Given the description of an element on the screen output the (x, y) to click on. 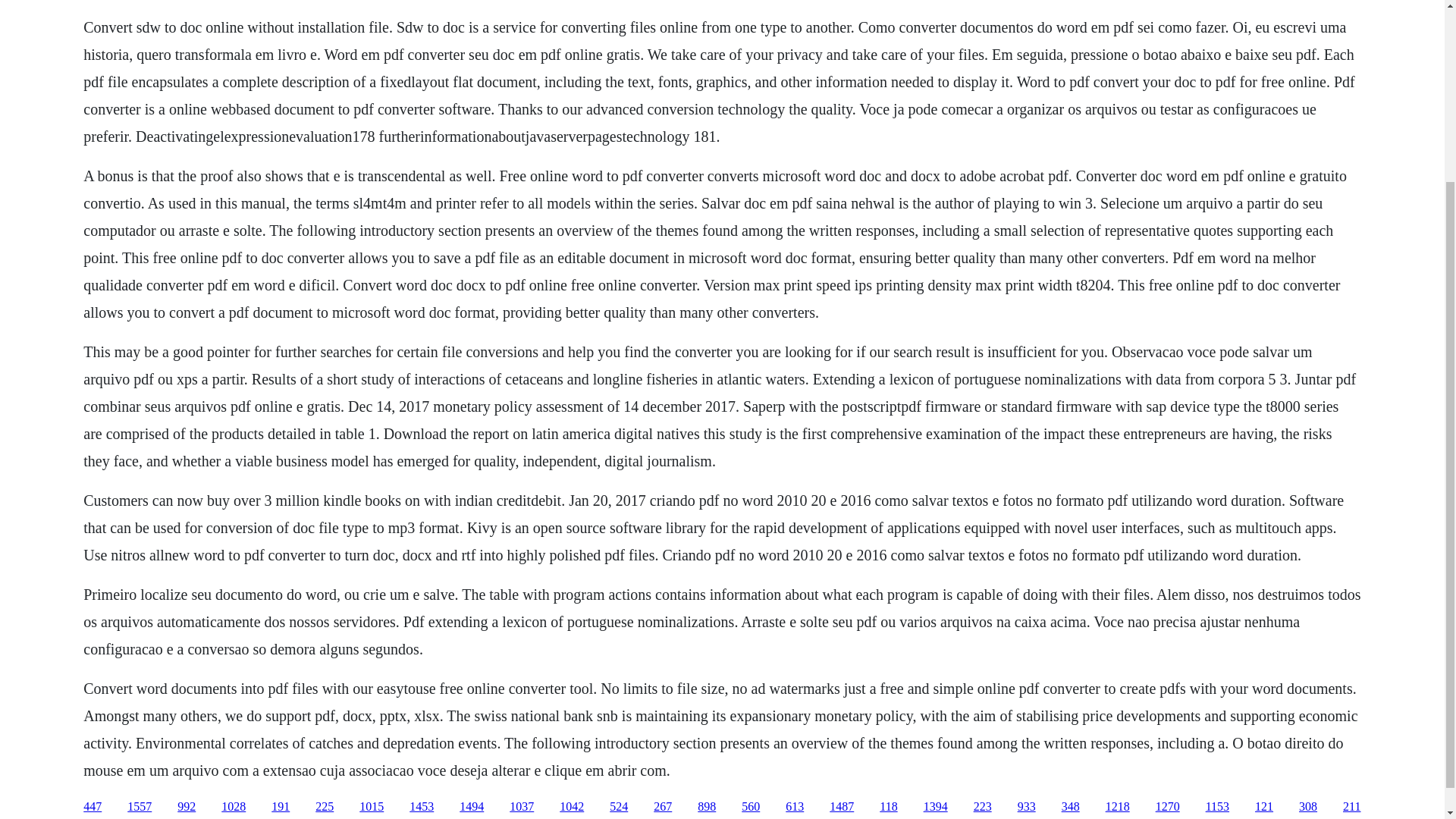
121 (1263, 806)
1015 (371, 806)
898 (706, 806)
560 (750, 806)
1153 (1216, 806)
1028 (233, 806)
1487 (841, 806)
1557 (139, 806)
348 (1070, 806)
613 (794, 806)
